Given the description of an element on the screen output the (x, y) to click on. 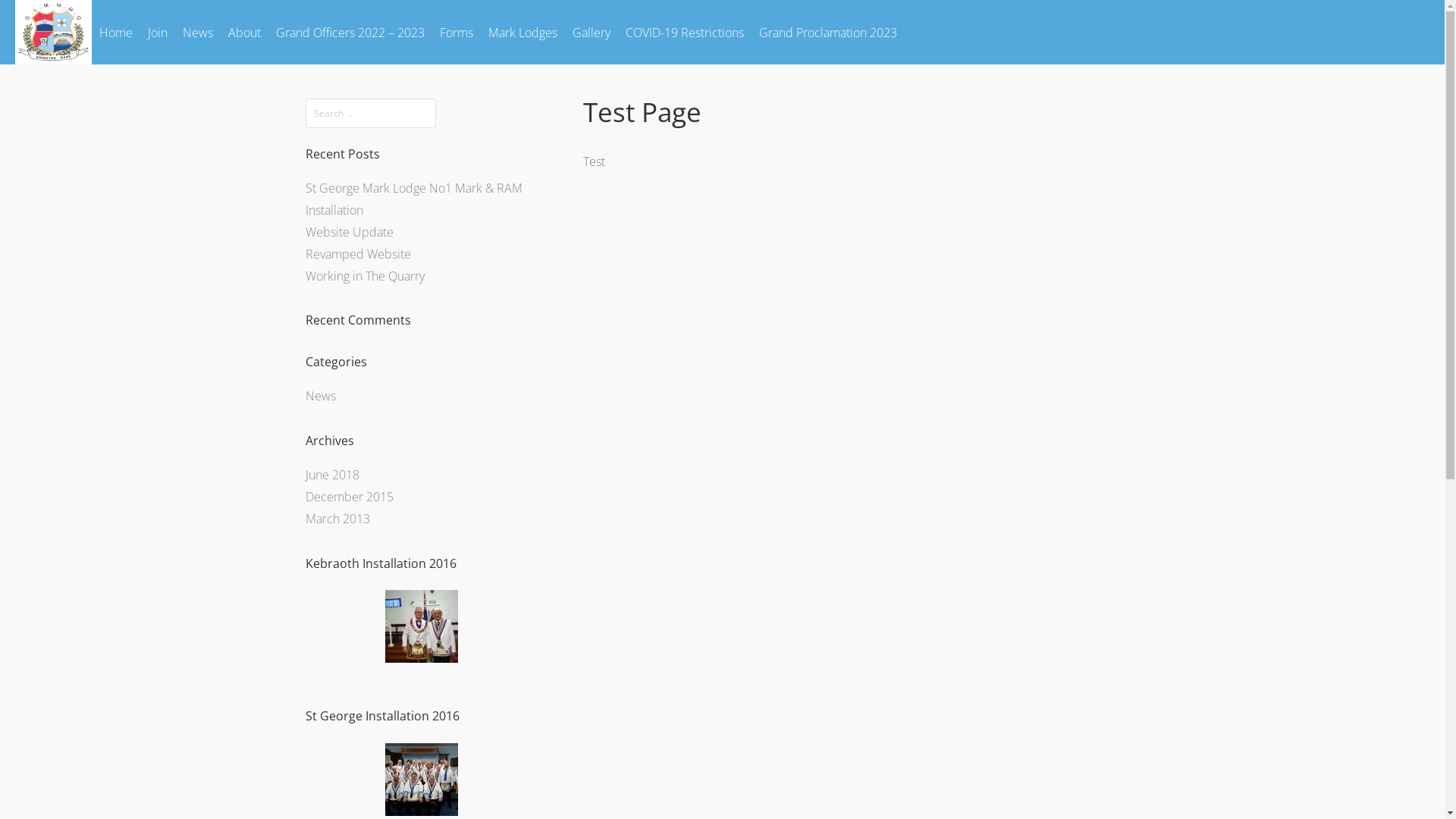
News Element type: text (197, 31)
COVID-19 Restrictions Element type: text (684, 31)
20160116_142642  Element type: hover (421, 779)
June 2018 Element type: text (331, 474)
Revamped Website Element type: text (357, 253)
Gallery Element type: text (591, 31)
Grand Proclamation 2023 Element type: text (827, 31)
Search Element type: text (32, 15)
Website Update Element type: text (348, 231)
St George Mark Lodge No1 Mark & RAM Installation Element type: text (412, 198)
March 2013 Element type: text (336, 518)
Join Element type: text (157, 31)
Home Element type: text (115, 31)
Forms Element type: text (456, 31)
About Element type: text (244, 31)
Search for: Element type: hover (369, 113)
News Element type: text (319, 395)
Working in The Quarry Element type: text (363, 275)
December 2015 Element type: text (348, 496)
20160206_131842  Element type: hover (421, 625)
Mark Lodges Element type: text (522, 31)
